Given the description of an element on the screen output the (x, y) to click on. 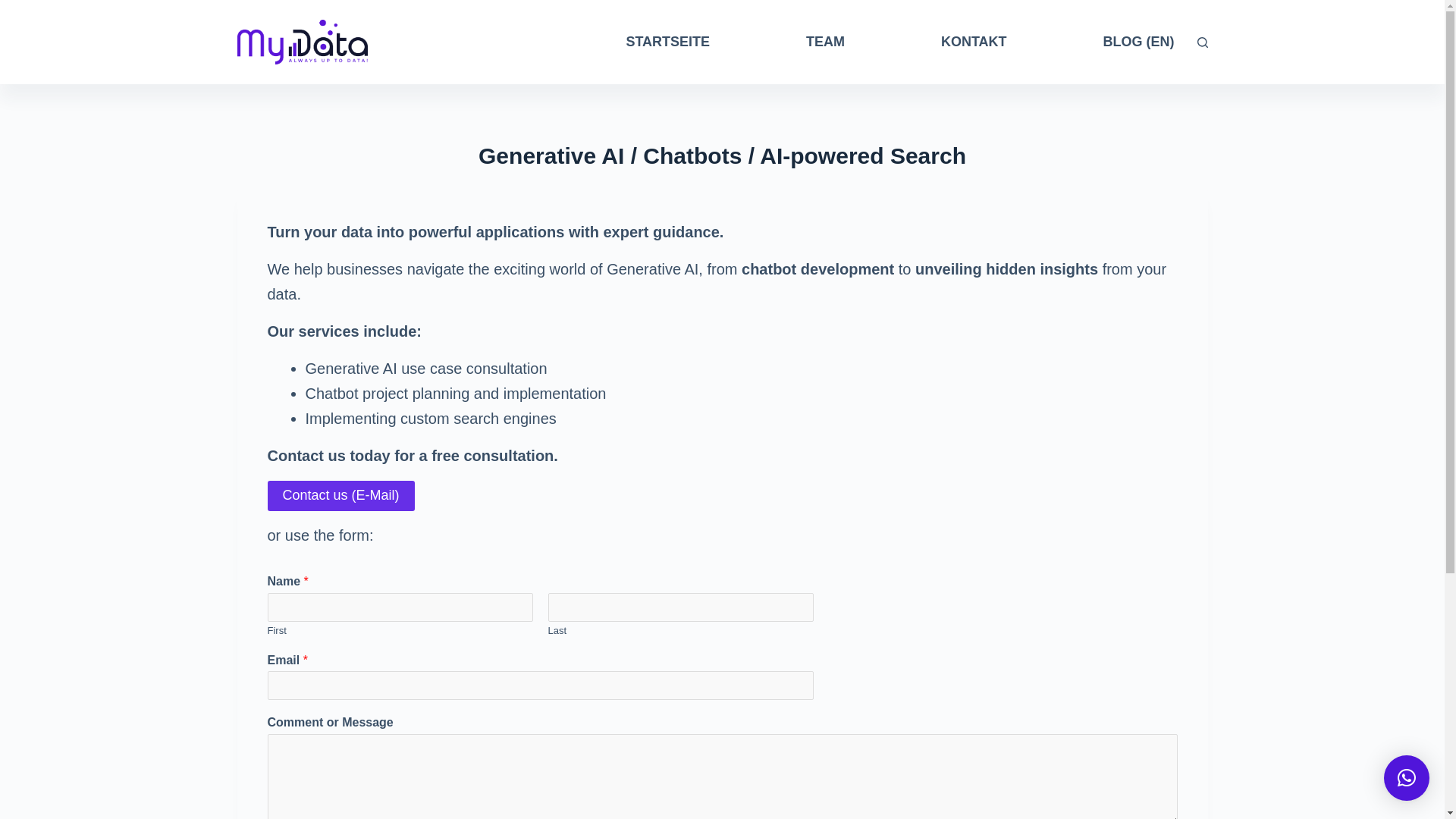
KONTAKT (973, 42)
STARTSEITE (667, 42)
Skip to content (15, 7)
TEAM (824, 42)
